Given the description of an element on the screen output the (x, y) to click on. 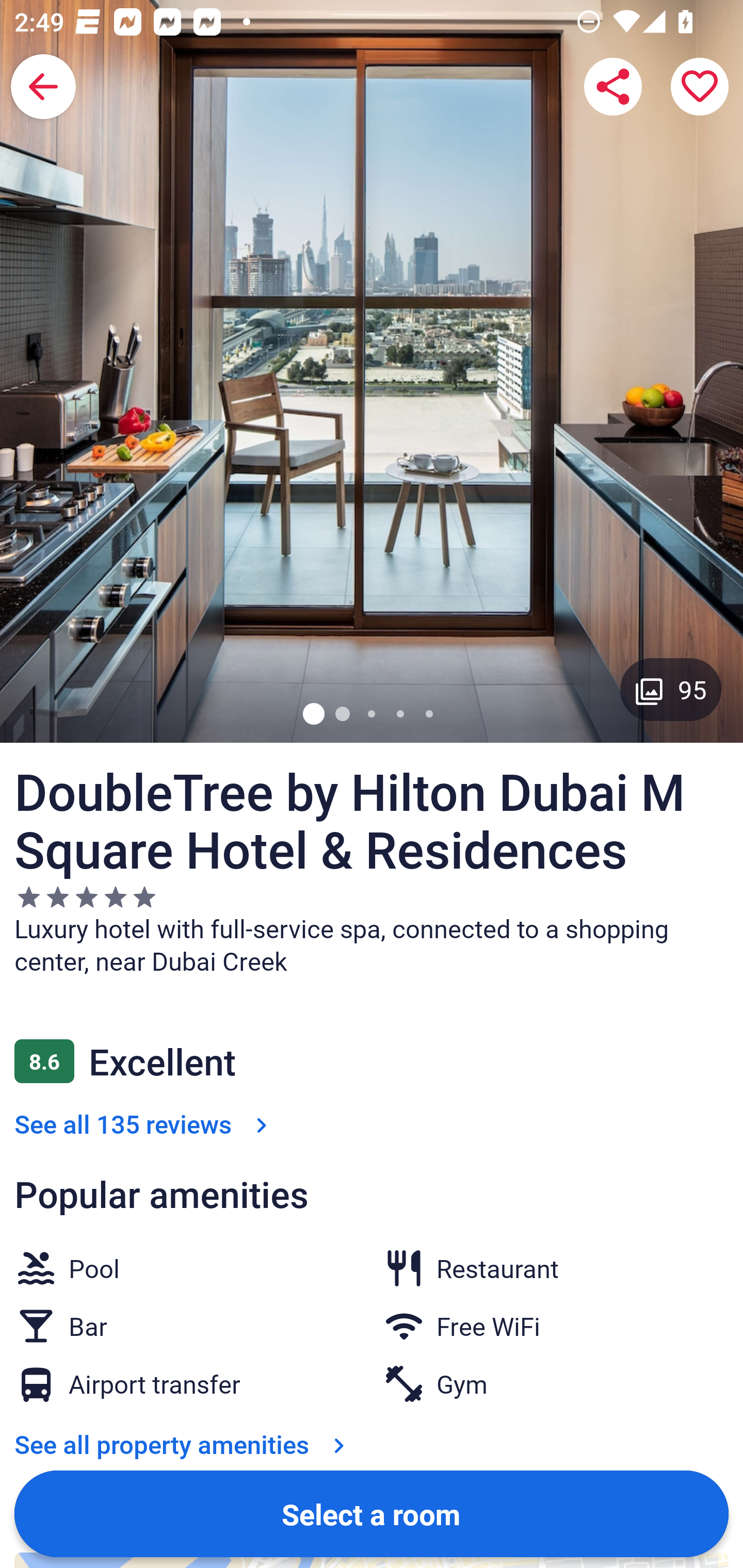
Back (43, 86)
Save property to a trip (699, 86)
Gallery button with 95 images (670, 689)
See all 135 reviews See all 135 reviews Link (144, 1123)
See all property amenities (183, 1444)
Select a room Button Select a room (371, 1513)
